Given the description of an element on the screen output the (x, y) to click on. 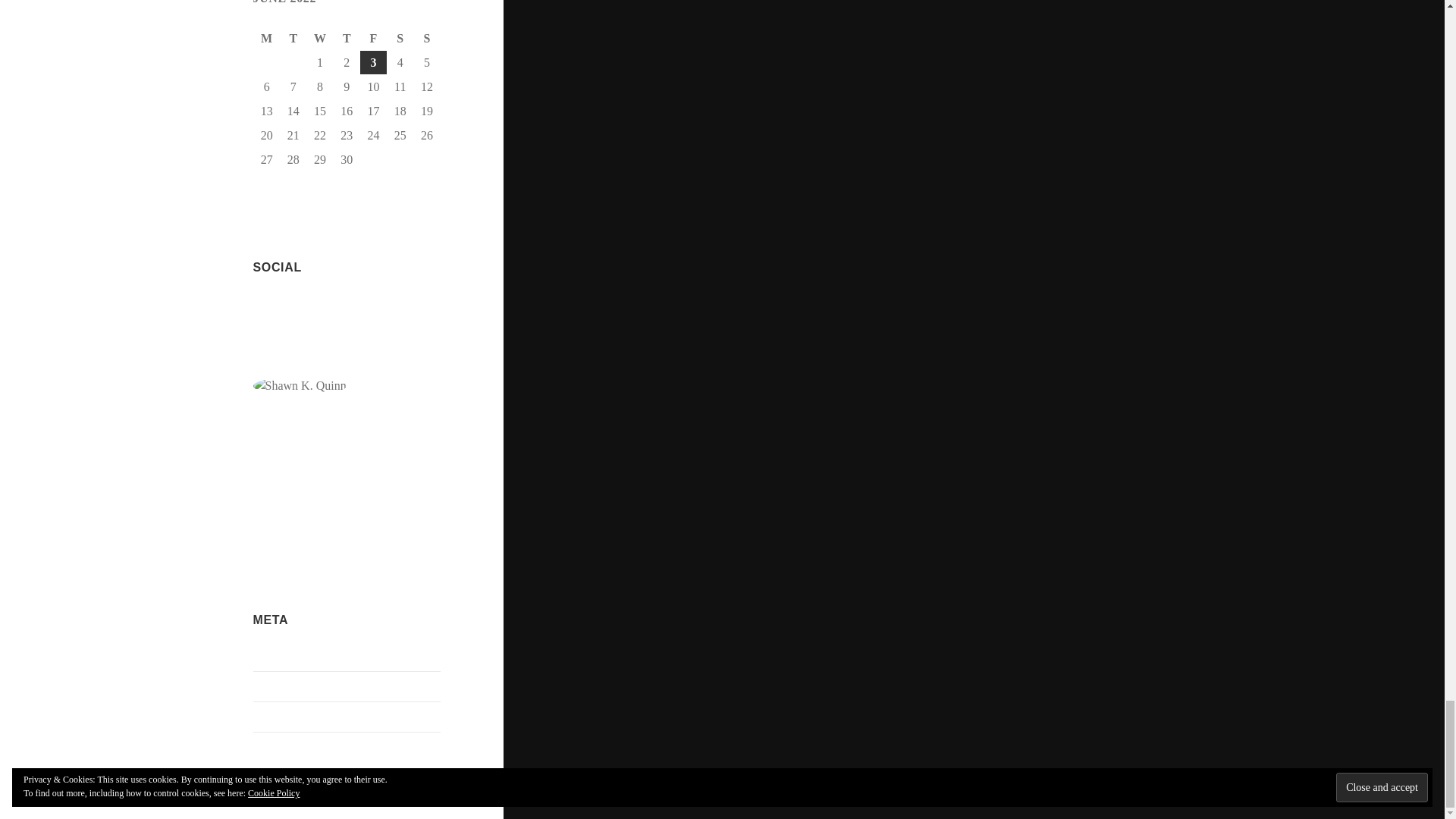
Wednesday (320, 38)
Monday (267, 38)
Friday (373, 38)
Tuesday (294, 38)
Thursday (346, 38)
Sunday (427, 38)
Saturday (400, 38)
